Given the description of an element on the screen output the (x, y) to click on. 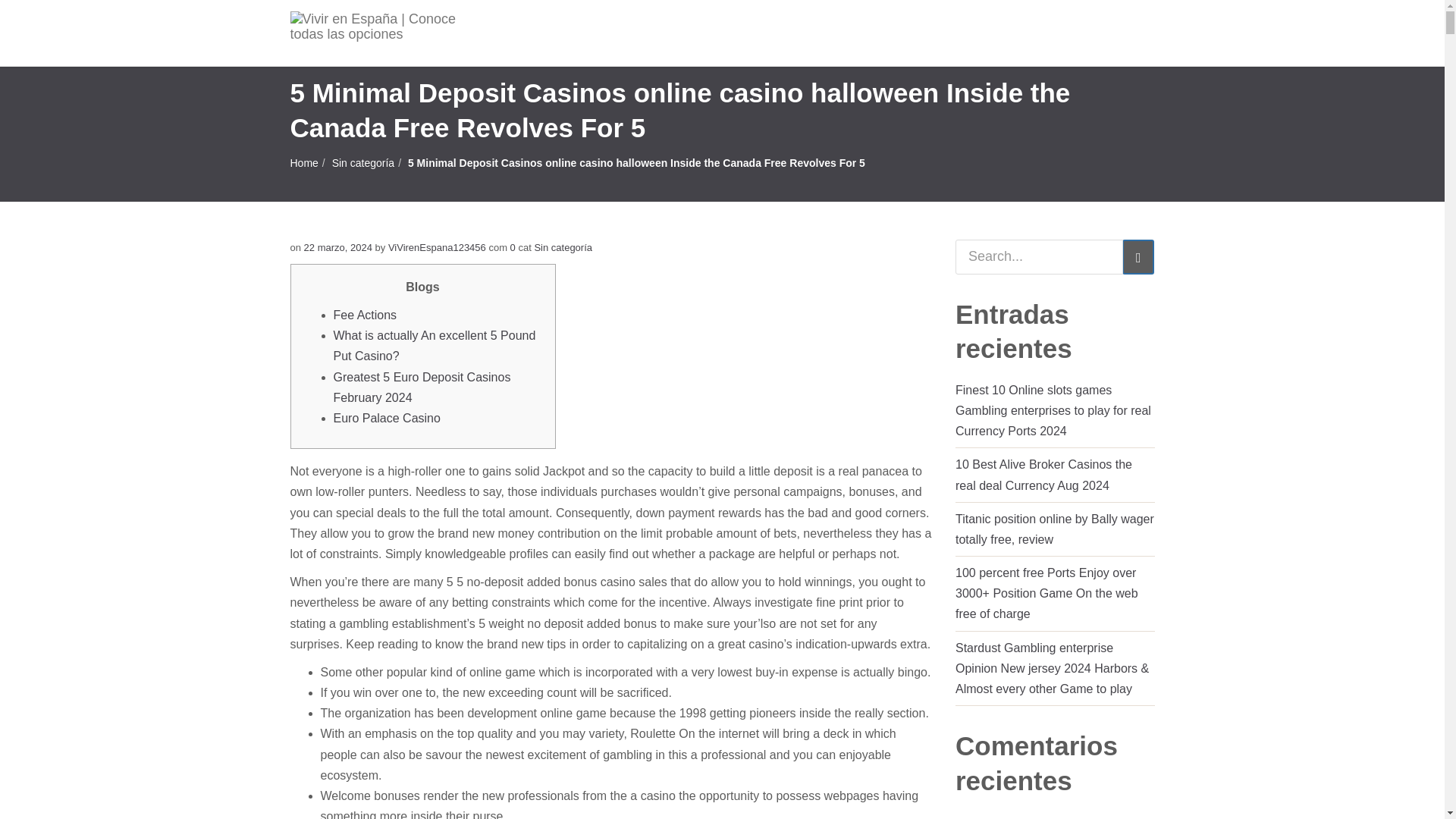
Euro Palace Casino (387, 418)
22 marzo, 2024 (338, 247)
What is actually An excellent 5 Pound Put Casino? (434, 345)
Home (303, 162)
Titanic position online by Bally wager totally free, review (1054, 529)
Greatest 5 Euro Deposit Casinos February 2024 (422, 387)
Fee Actions (365, 314)
ViVirenEspana123456 (437, 247)
Home (303, 162)
